Given the description of an element on the screen output the (x, y) to click on. 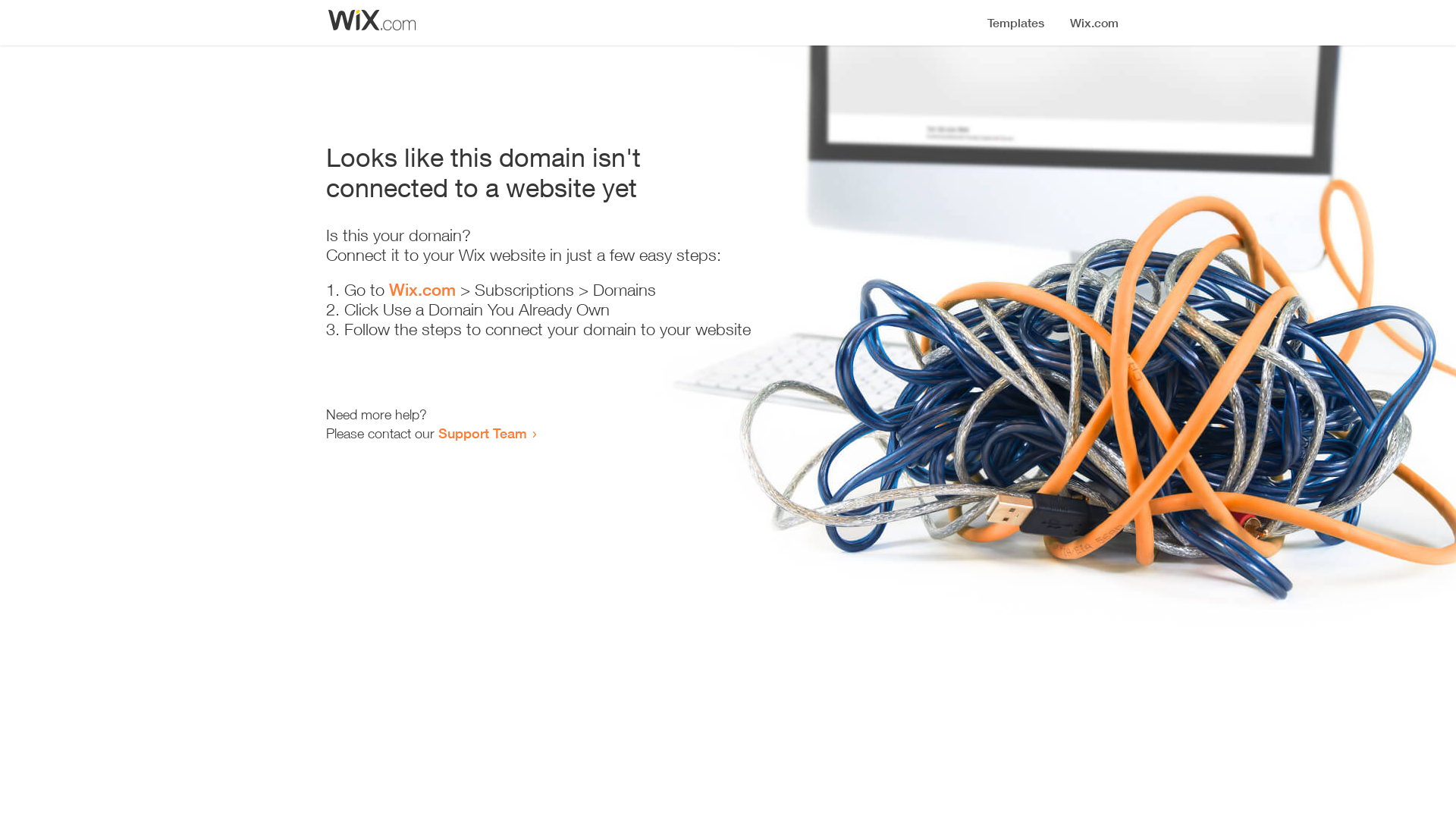
Support Team Element type: text (482, 432)
Wix.com Element type: text (422, 289)
